Given the description of an element on the screen output the (x, y) to click on. 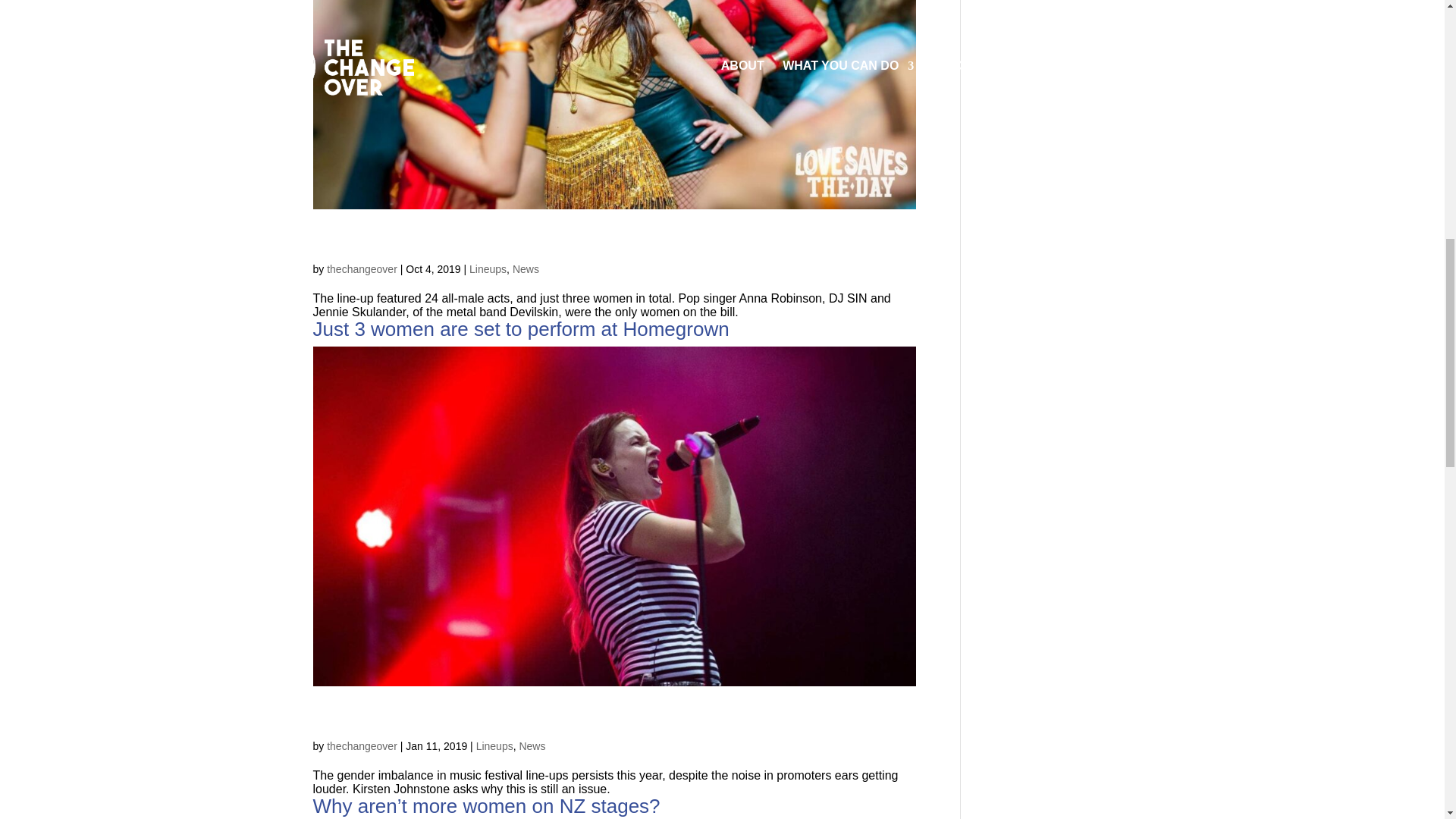
Just 3 women are set to perform at Homegrown (521, 328)
thechangeover (361, 268)
News (525, 268)
Lineups (487, 268)
Posts by thechangeover (361, 268)
Posts by thechangeover (361, 746)
